Given the description of an element on the screen output the (x, y) to click on. 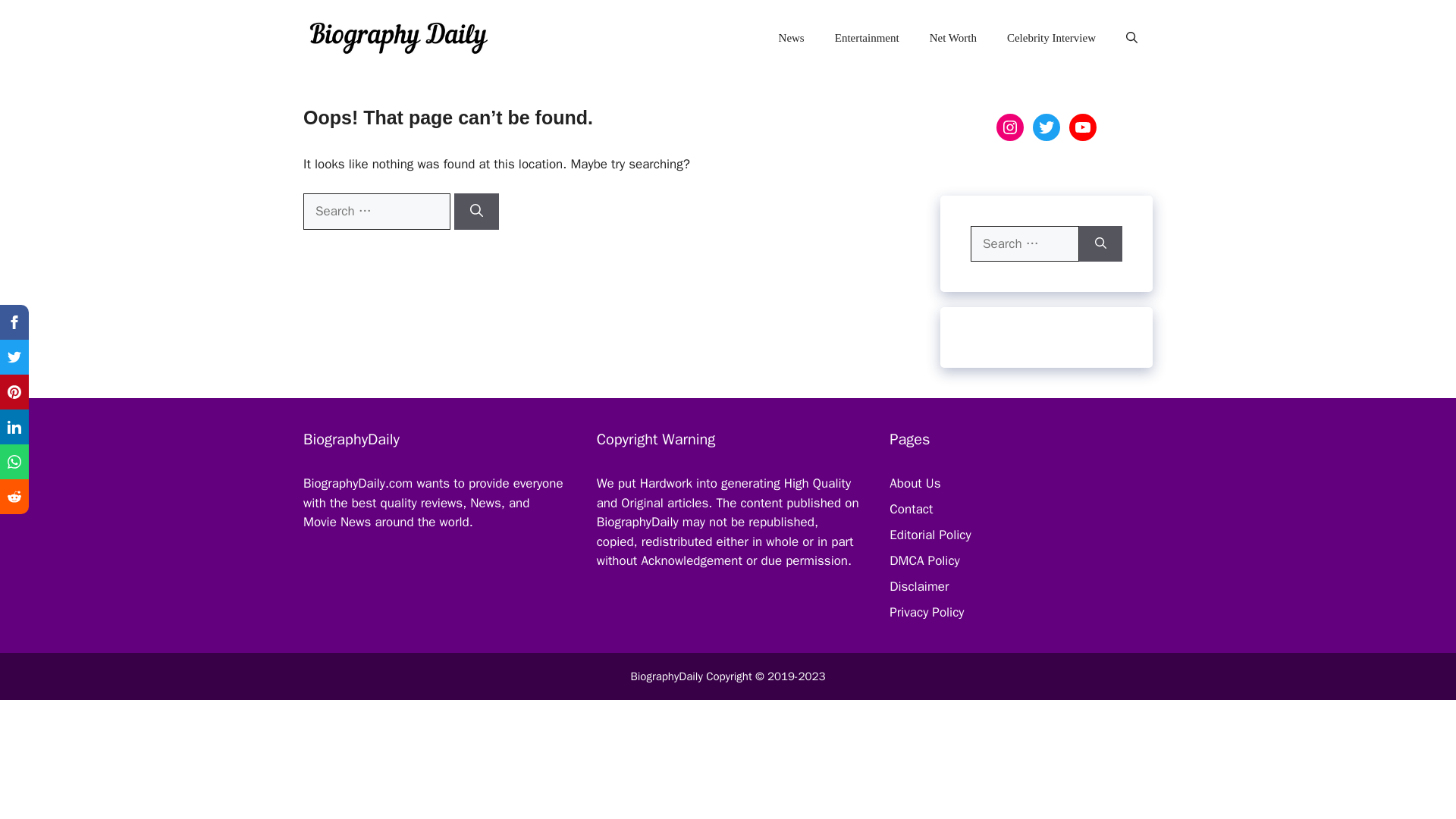
Entertainment (866, 37)
Disclaimer (919, 586)
About Us (914, 483)
DMCA Policy (924, 560)
Editorial Policy (930, 534)
Search for: (375, 211)
News (790, 37)
Celebrity Interview (1050, 37)
Twitter (1045, 126)
Net Worth (952, 37)
